Given the description of an element on the screen output the (x, y) to click on. 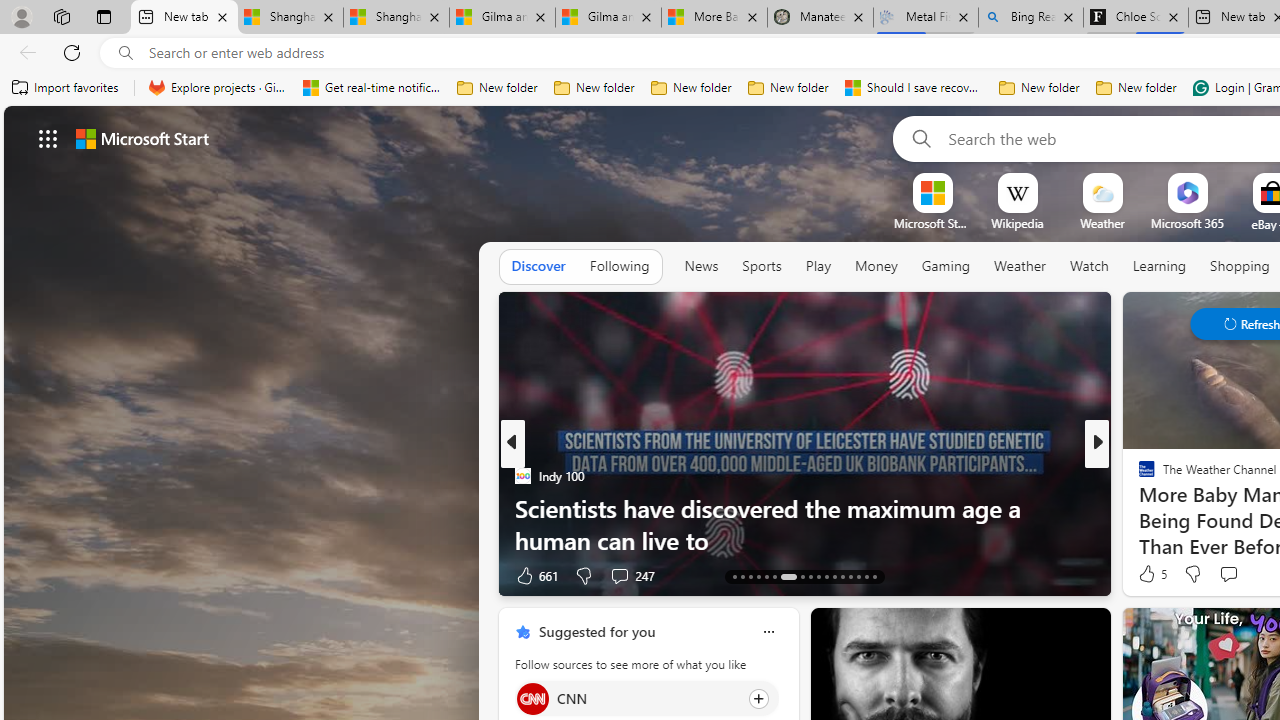
To get missing image descriptions, open the context menu. (932, 192)
Play (818, 267)
AutomationID: tab-19 (788, 576)
View comments 25 Comment (1229, 575)
Weather (1020, 265)
Nordace.com (1165, 507)
269 Like (1151, 574)
AutomationID: tab-22 (818, 576)
Hide this story (1050, 632)
Bing Real Estate - Home sales and rental listings (1030, 17)
Search icon (125, 53)
